Given the description of an element on the screen output the (x, y) to click on. 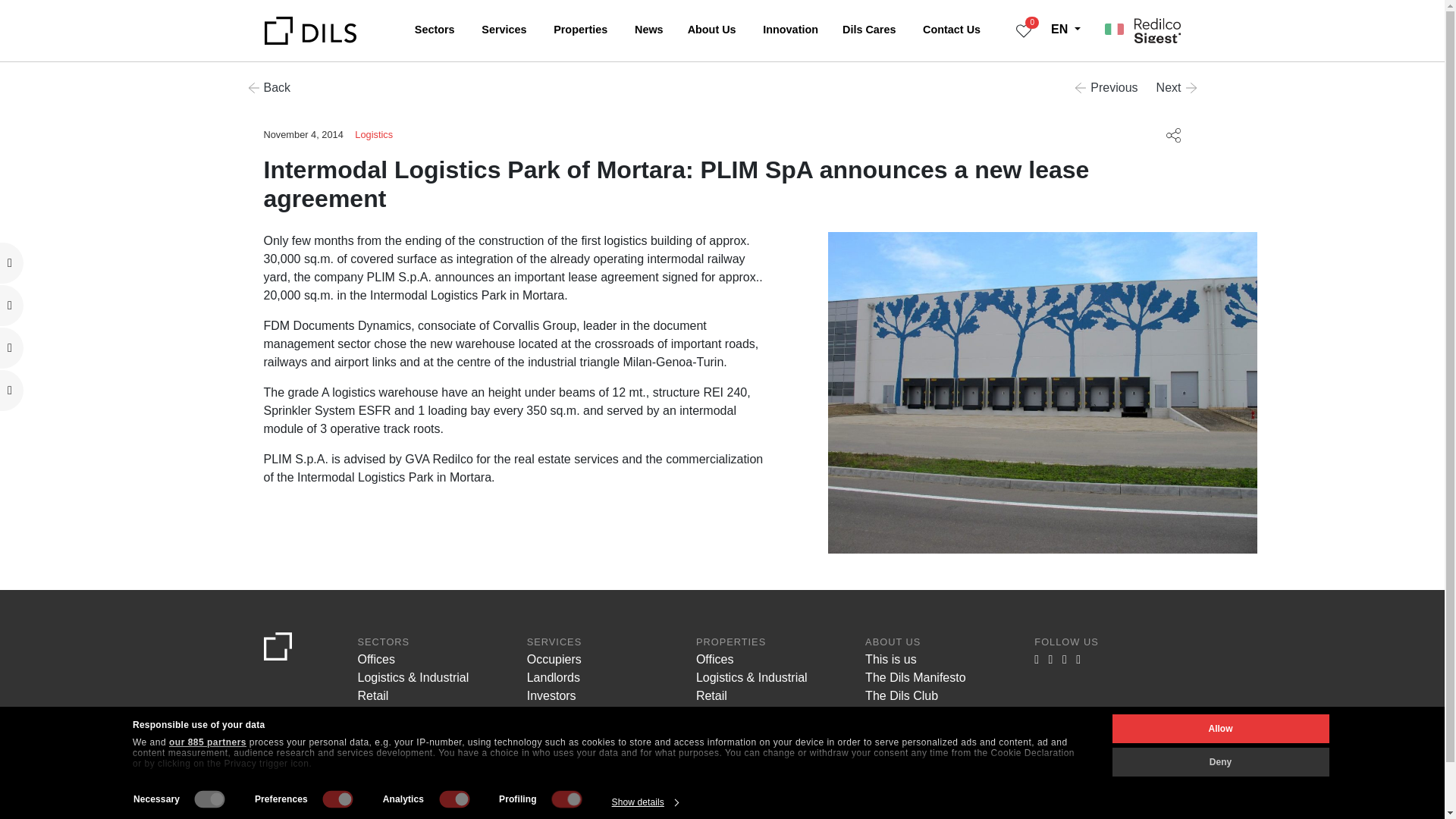
Show details (644, 802)
details section (562, 817)
our 885 partners (207, 742)
